Given the description of an element on the screen output the (x, y) to click on. 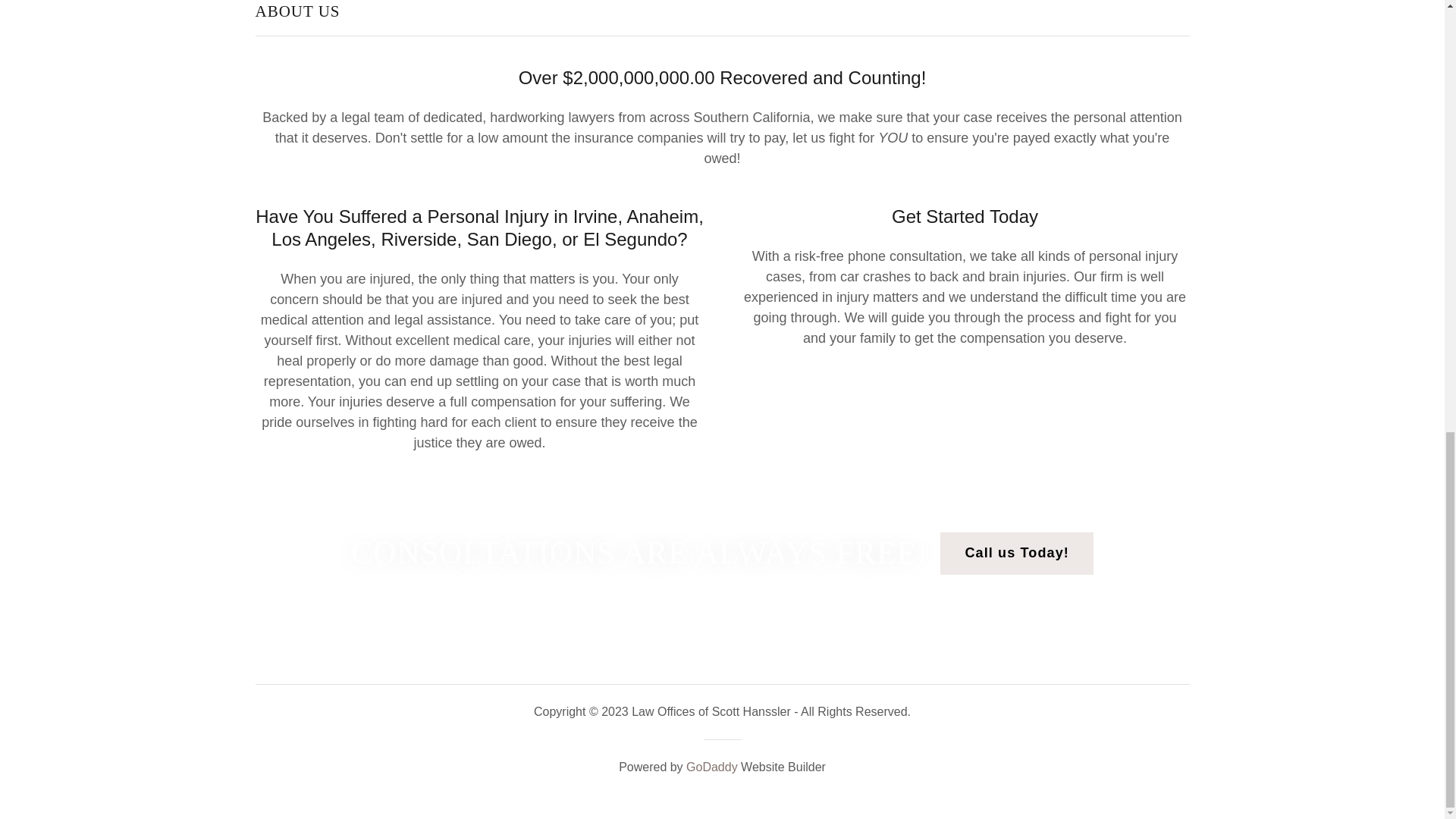
Call us Today! (1016, 553)
Accept (1274, 224)
GoDaddy (711, 766)
